Given the description of an element on the screen output the (x, y) to click on. 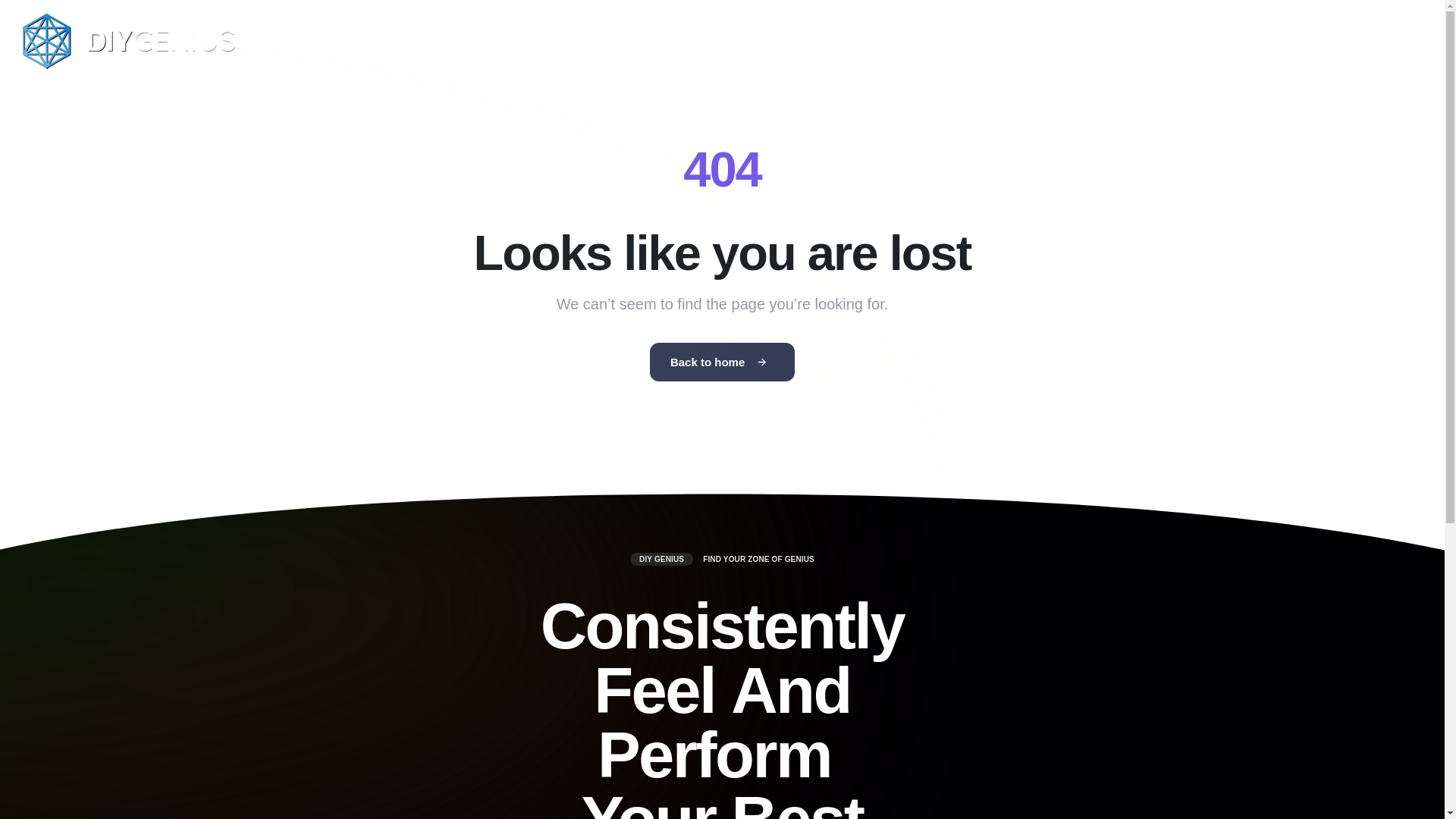
Back to home (721, 362)
Courses (721, 40)
Guides (649, 40)
Contact (860, 40)
Home (523, 40)
About (791, 40)
Blog (585, 40)
Sign in (1329, 41)
Join (1396, 41)
